Given the description of an element on the screen output the (x, y) to click on. 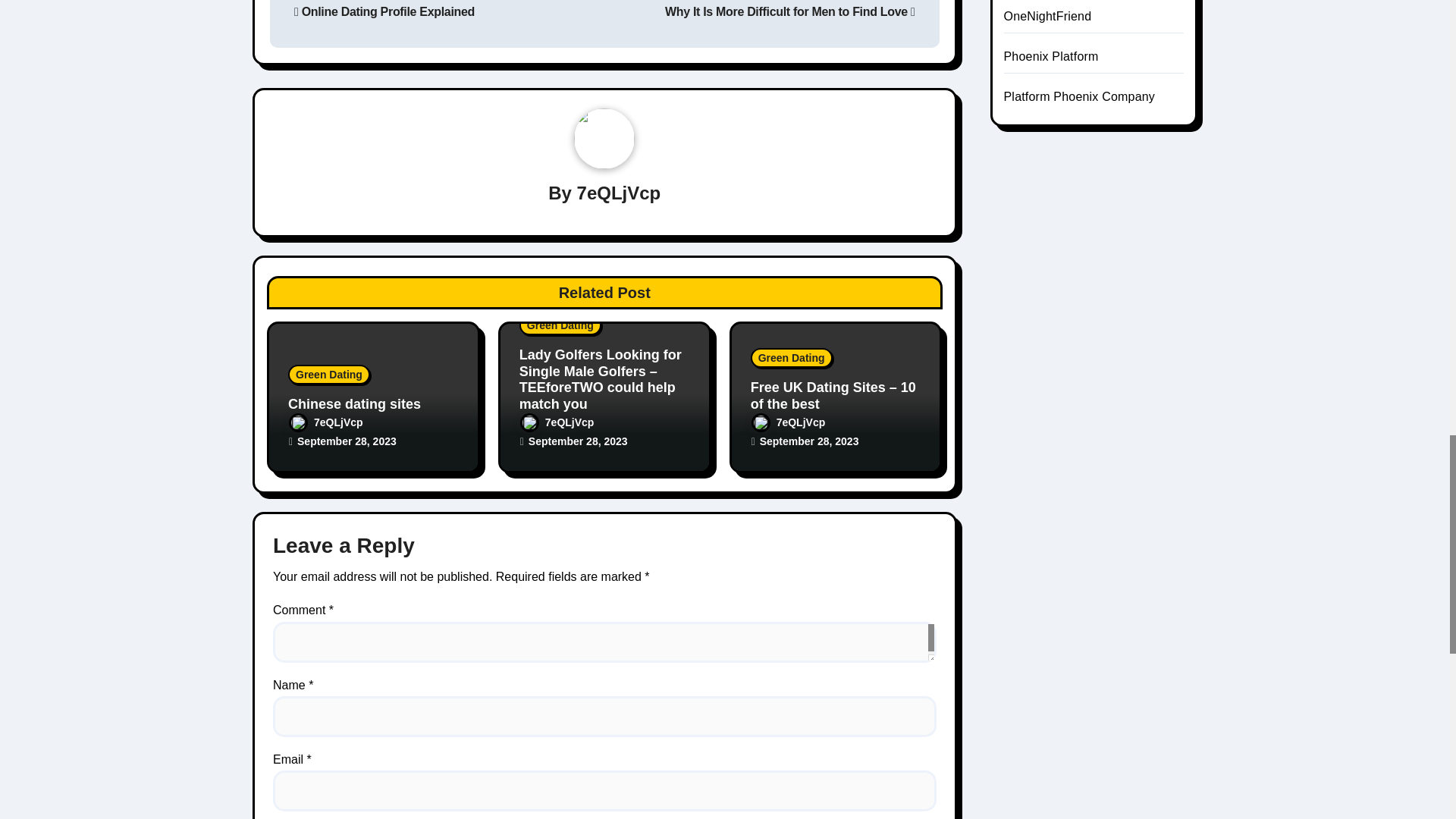
Online Dating Profile Explained (384, 11)
Why It Is More Difficult for Men to Find Love (789, 11)
Permalink to: Chinese dating sites (354, 403)
